Given the description of an element on the screen output the (x, y) to click on. 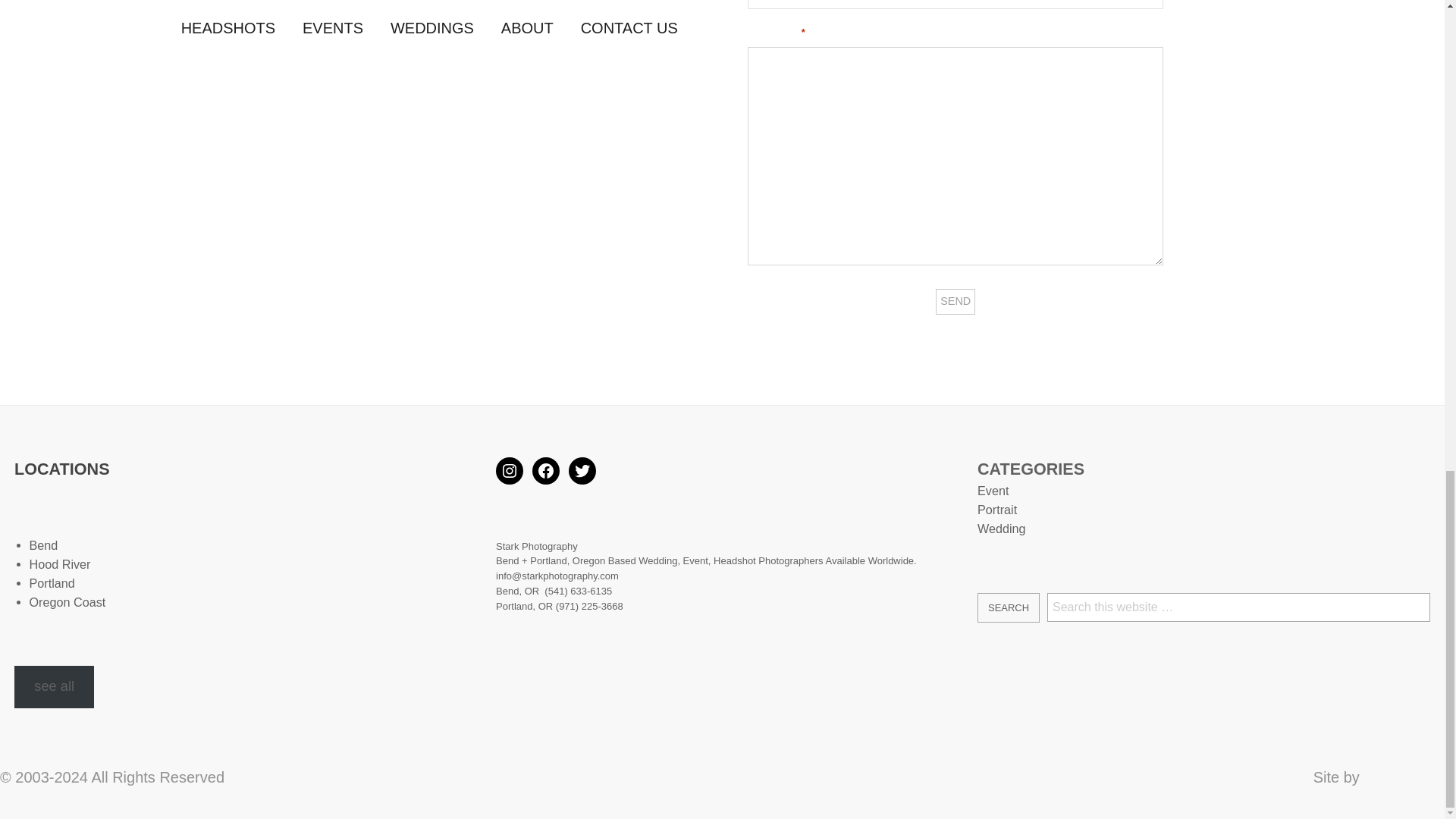
Twitter (582, 470)
Instagram (509, 470)
Portrait (996, 509)
see all (54, 686)
Search (1007, 607)
Bend (43, 545)
Search (1007, 607)
Portland (51, 582)
Hood River (59, 563)
Event (992, 490)
